Given the description of an element on the screen output the (x, y) to click on. 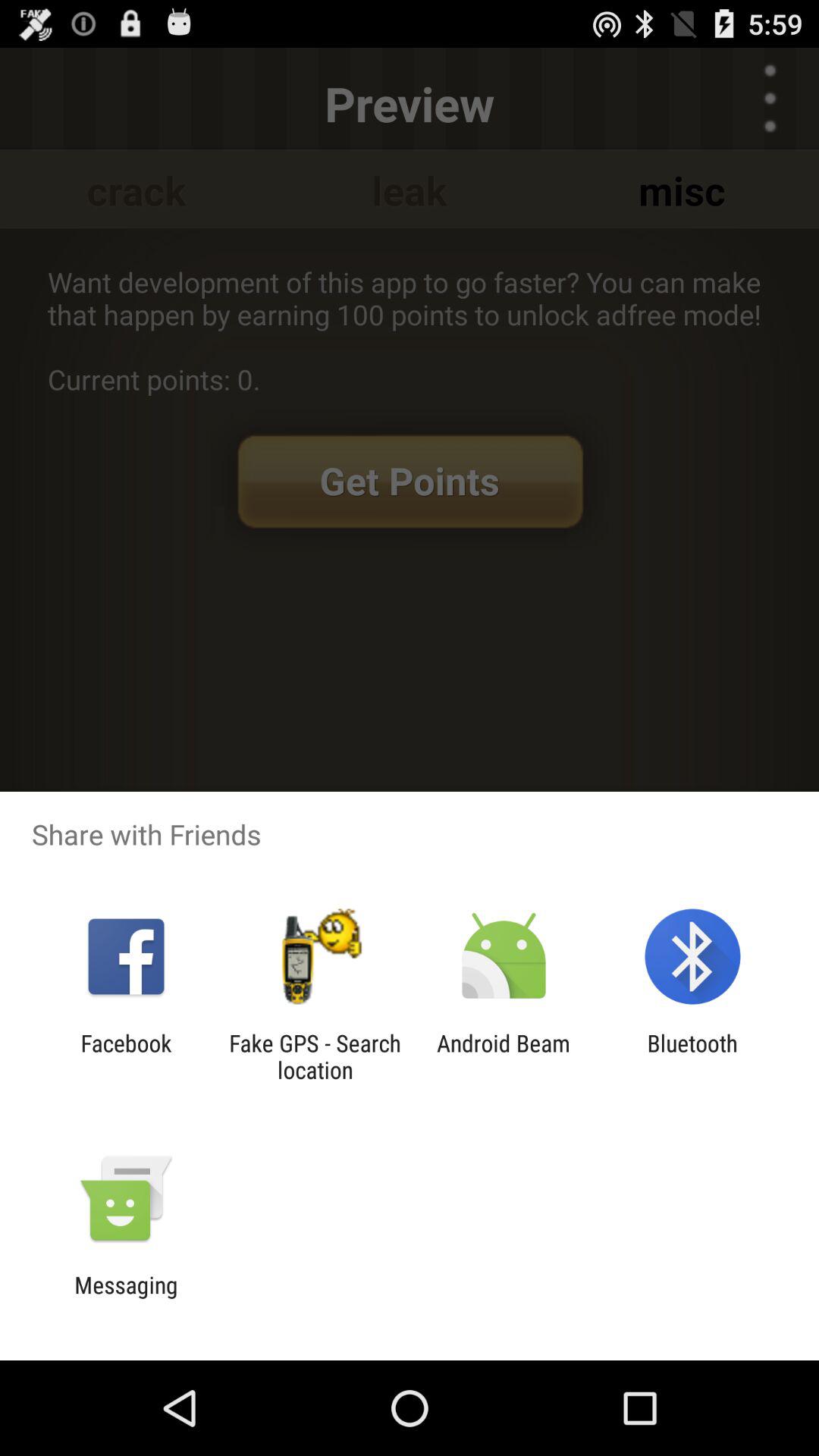
turn on the icon next to fake gps search (503, 1056)
